Given the description of an element on the screen output the (x, y) to click on. 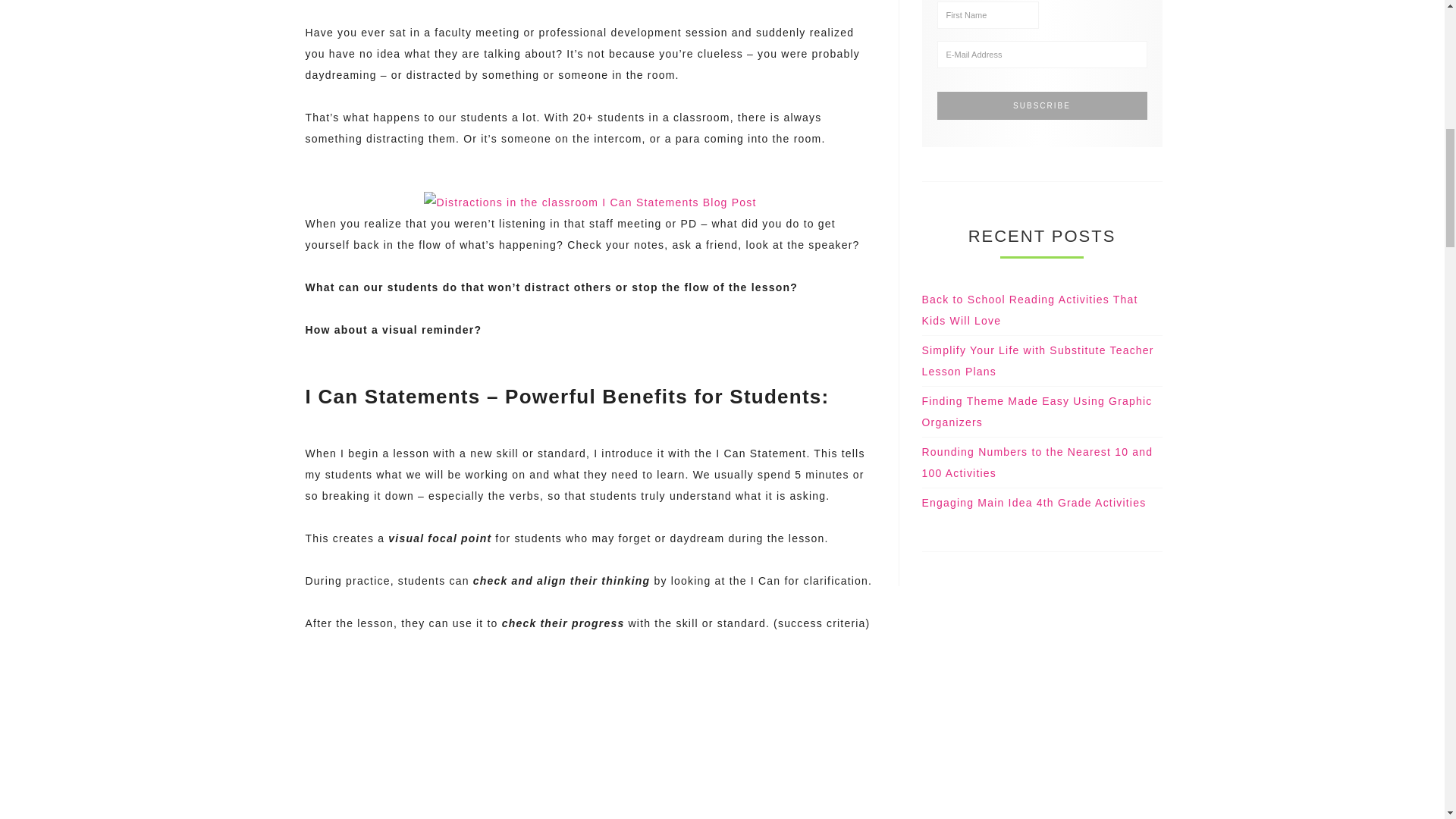
Bored Students I Can Statements Blog Post Graphic (589, 201)
Benefits of I Can Statements for Students Infographic (590, 758)
Subscribe (1042, 105)
